Given the description of an element on the screen output the (x, y) to click on. 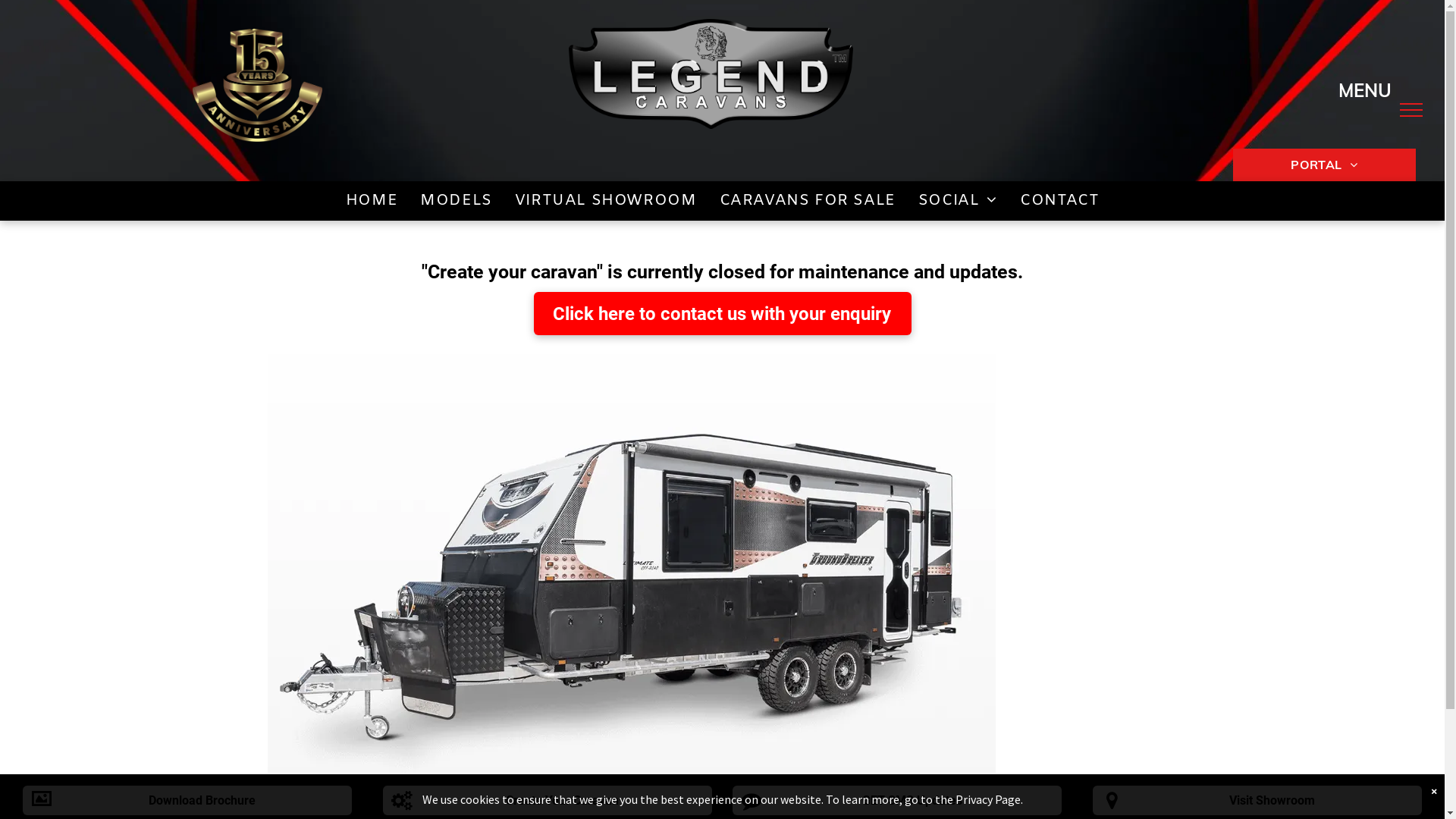
HOME Element type: text (371, 200)
MODELS Element type: text (455, 200)
VIRTUAL SHOWROOM Element type: text (605, 200)
PORTAL Element type: text (1323, 164)
SOCIAL Element type: text (957, 200)
Visit Showroom Element type: text (1256, 800)
Download Brochure Element type: text (186, 800)
Create Your Caravan Element type: text (547, 800)
CONTACT Element type: text (1059, 200)
GET SMS Updates Element type: text (896, 800)
CARAVANS FOR SALE Element type: text (807, 200)
Click here to contact us with your enquiry Element type: text (722, 313)
